Given the description of an element on the screen output the (x, y) to click on. 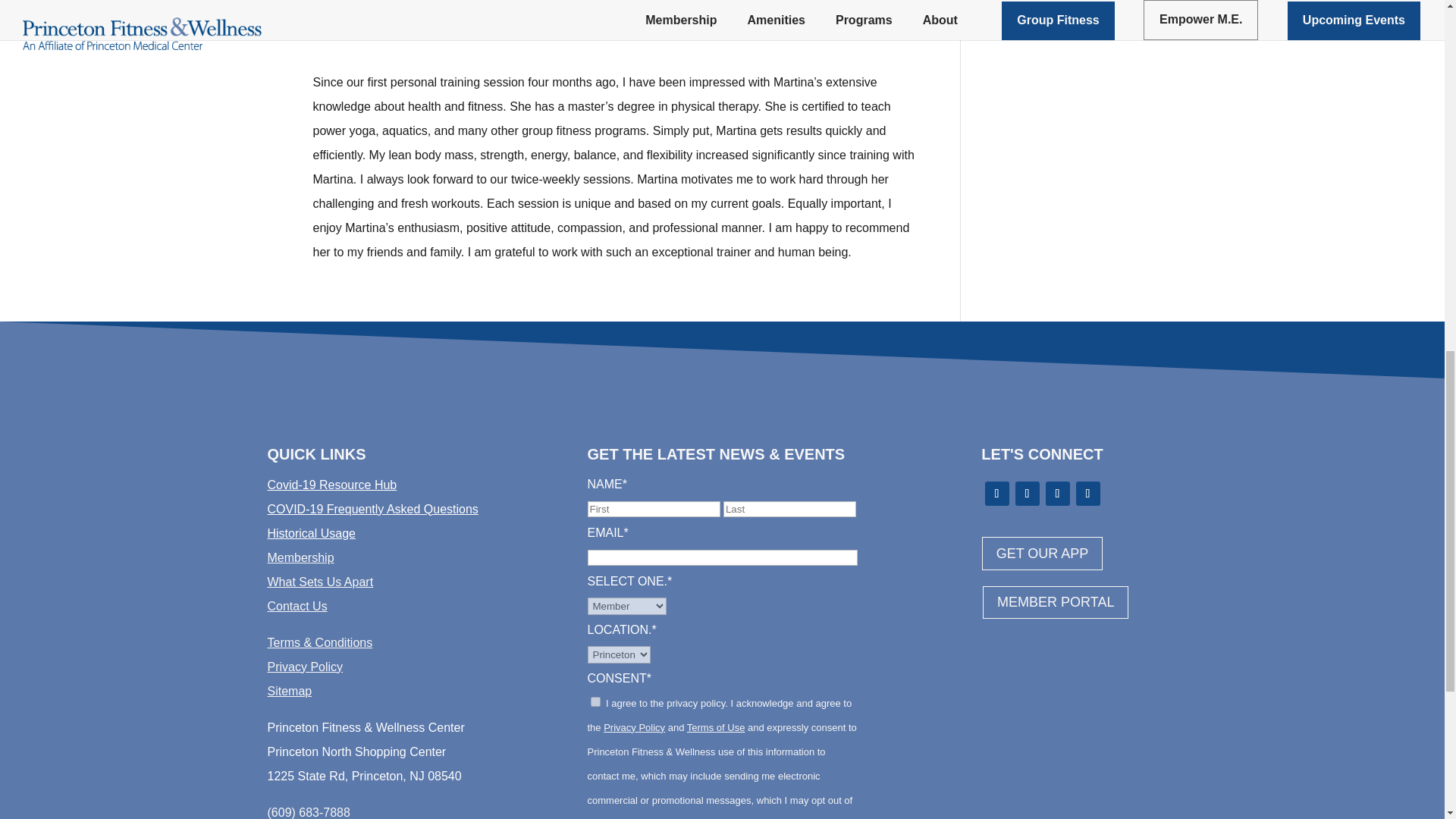
Follow on X (1026, 493)
1 (594, 701)
Follow on Instagram (1056, 493)
Follow on Youtube (1087, 493)
Follow on Facebook (996, 493)
